Given the description of an element on the screen output the (x, y) to click on. 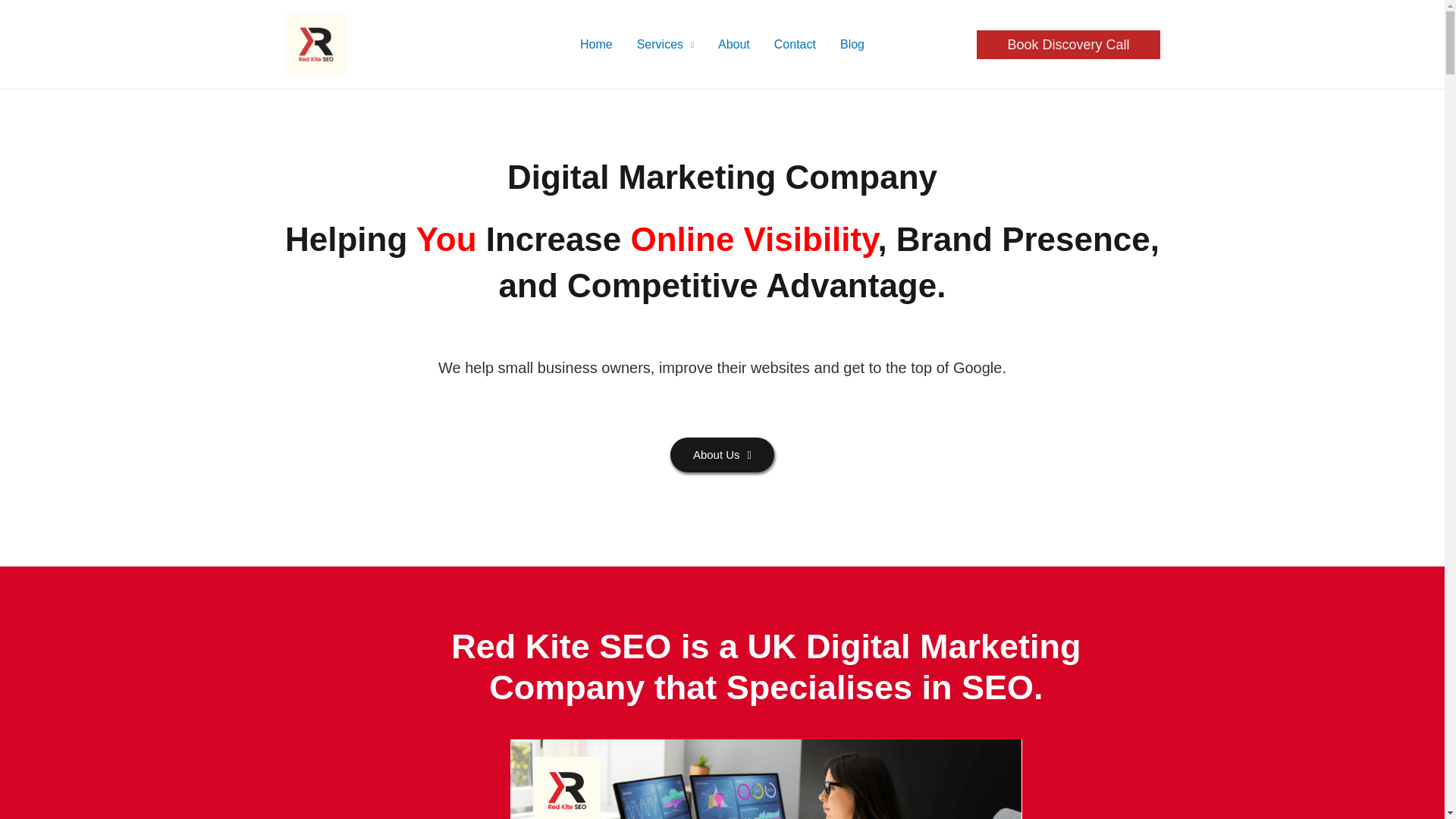
Contact (794, 44)
About Us (721, 454)
Home (595, 44)
About (733, 44)
Services (665, 44)
Book Discovery Call (1067, 44)
Blog (852, 44)
